Given the description of an element on the screen output the (x, y) to click on. 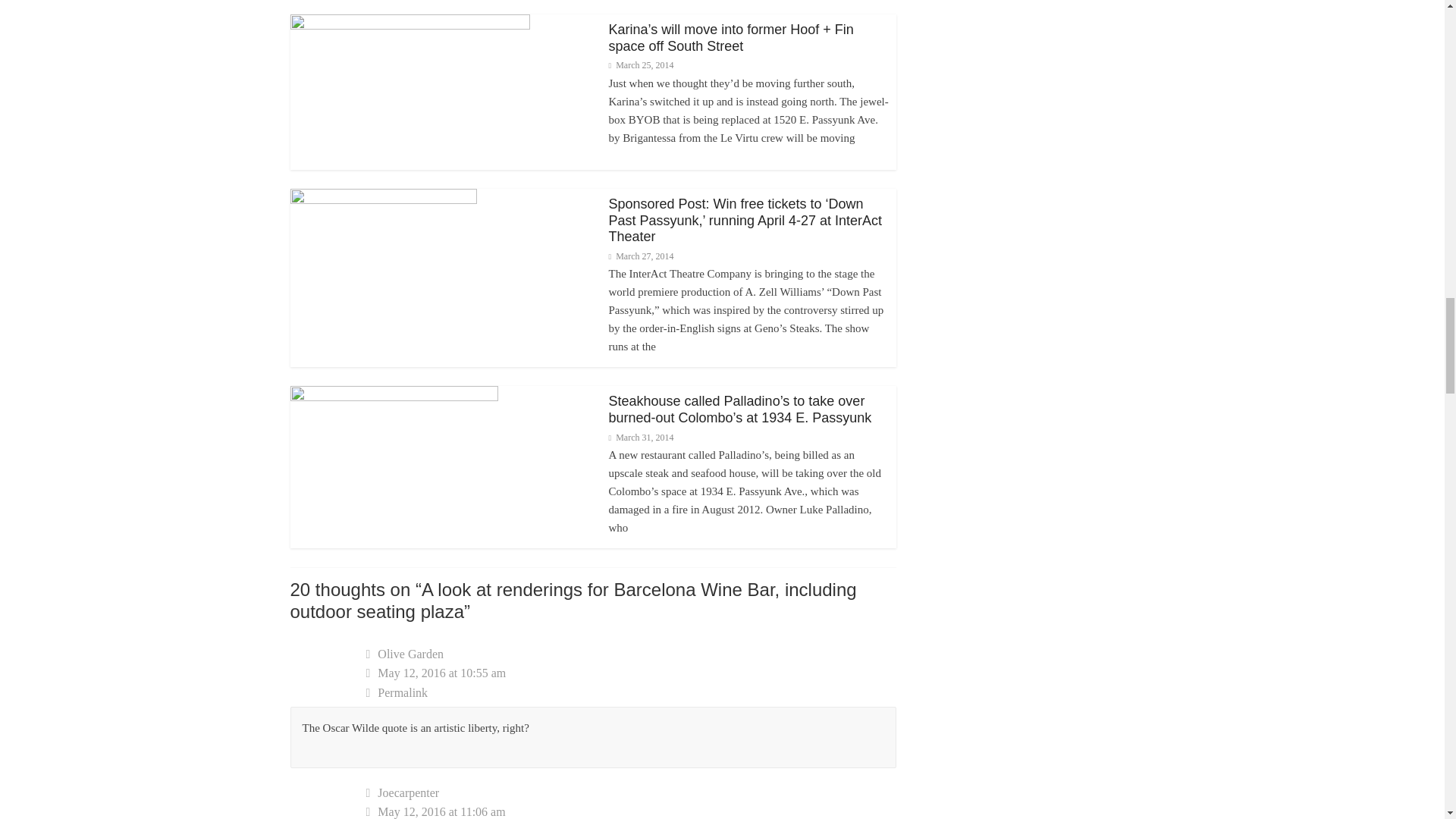
10:30 am (640, 255)
10:00 am (640, 64)
March 25, 2014 (640, 64)
March 27, 2014 (640, 255)
1:58 pm (640, 437)
